Given the description of an element on the screen output the (x, y) to click on. 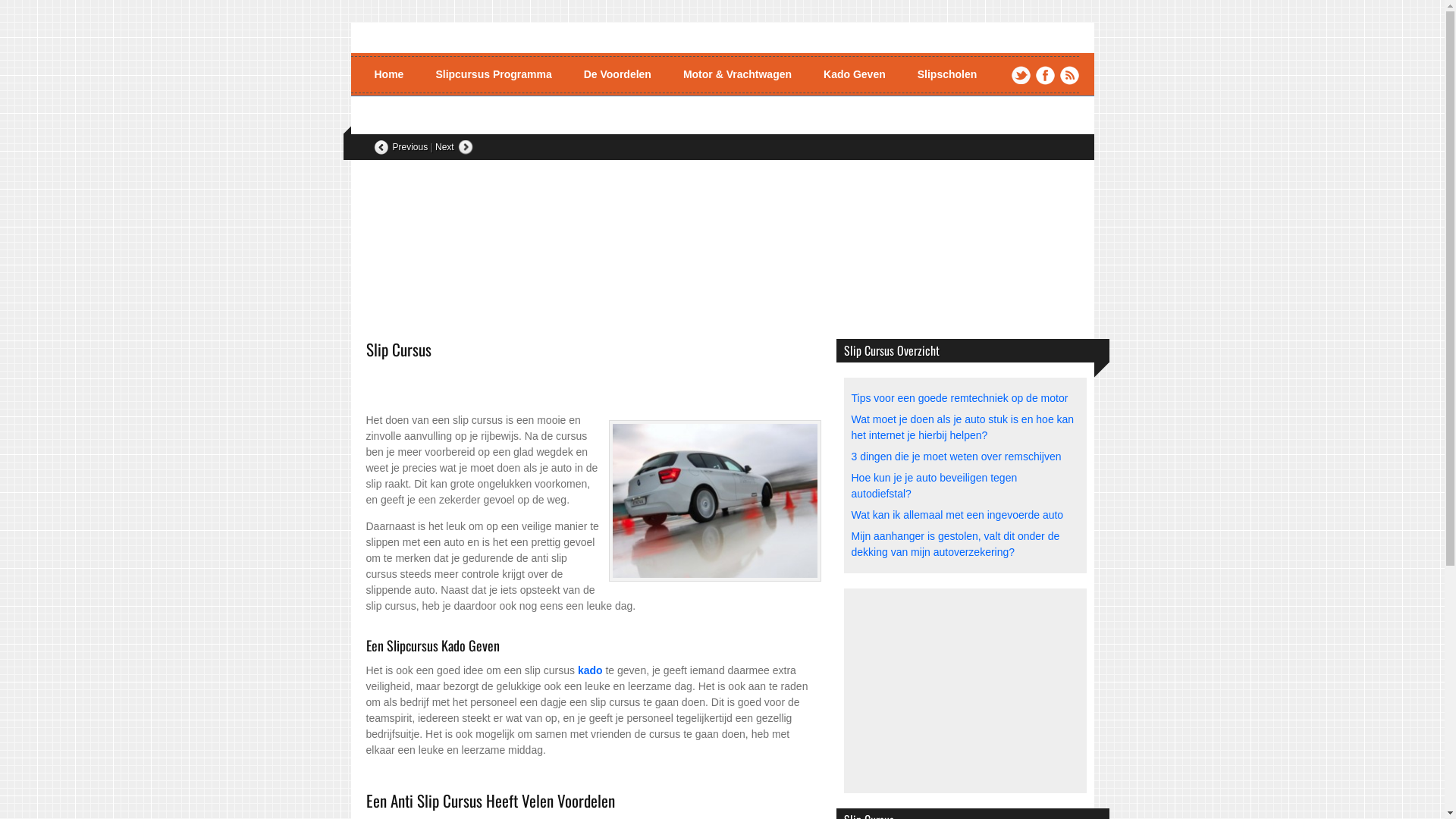
Feed Element type: text (1069, 74)
Motor & Vrachtwagen Element type: text (737, 74)
Kado Geven Element type: text (854, 74)
Tips voor een goede remtechniek op de motor Element type: text (958, 398)
Slipscholen Element type: text (947, 74)
Advertisement Element type: hover (542, 395)
3 dingen die je moet weten over remschijven Element type: text (955, 456)
Facebook Element type: text (1044, 74)
Next Element type: text (454, 147)
Advertisement Element type: hover (964, 690)
De Voordelen Element type: text (617, 74)
Previous Element type: text (400, 147)
Wat kan ik allemaal met een ingevoerde auto Element type: text (956, 514)
Hoe kun je je auto beveiligen tegen autodiefstal? Element type: text (933, 485)
Slipcursus Programma Element type: text (493, 74)
Twitter Element type: text (1020, 74)
kado Element type: text (589, 670)
Home Element type: text (389, 74)
